Given the description of an element on the screen output the (x, y) to click on. 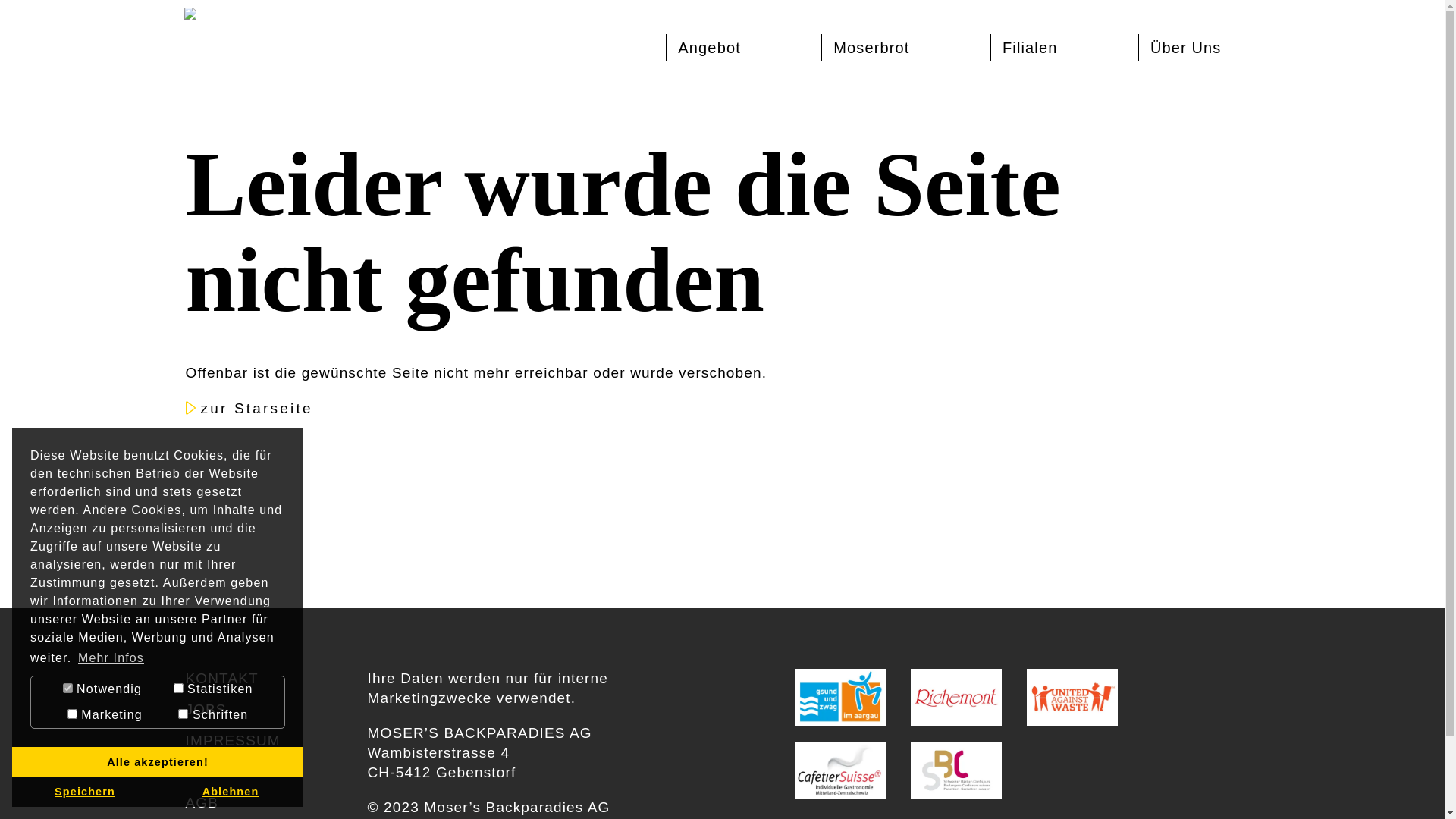
IMPRESSUM Element type: text (232, 739)
Speichern Element type: text (84, 791)
Filialen Element type: text (1029, 47)
Moserbrot Element type: text (871, 47)
Alle akzeptieren! Element type: text (157, 761)
Angebot Element type: text (708, 47)
Mehr Infos Element type: text (110, 657)
Ablehnen Element type: text (230, 791)
DATENSCHUTZ Element type: text (243, 770)
Home Element type: hover (189, 37)
KONTAKT Element type: text (221, 677)
zur Starseite Element type: text (259, 409)
JOBS Element type: text (205, 708)
AGB Element type: text (201, 801)
